Given the description of an element on the screen output the (x, y) to click on. 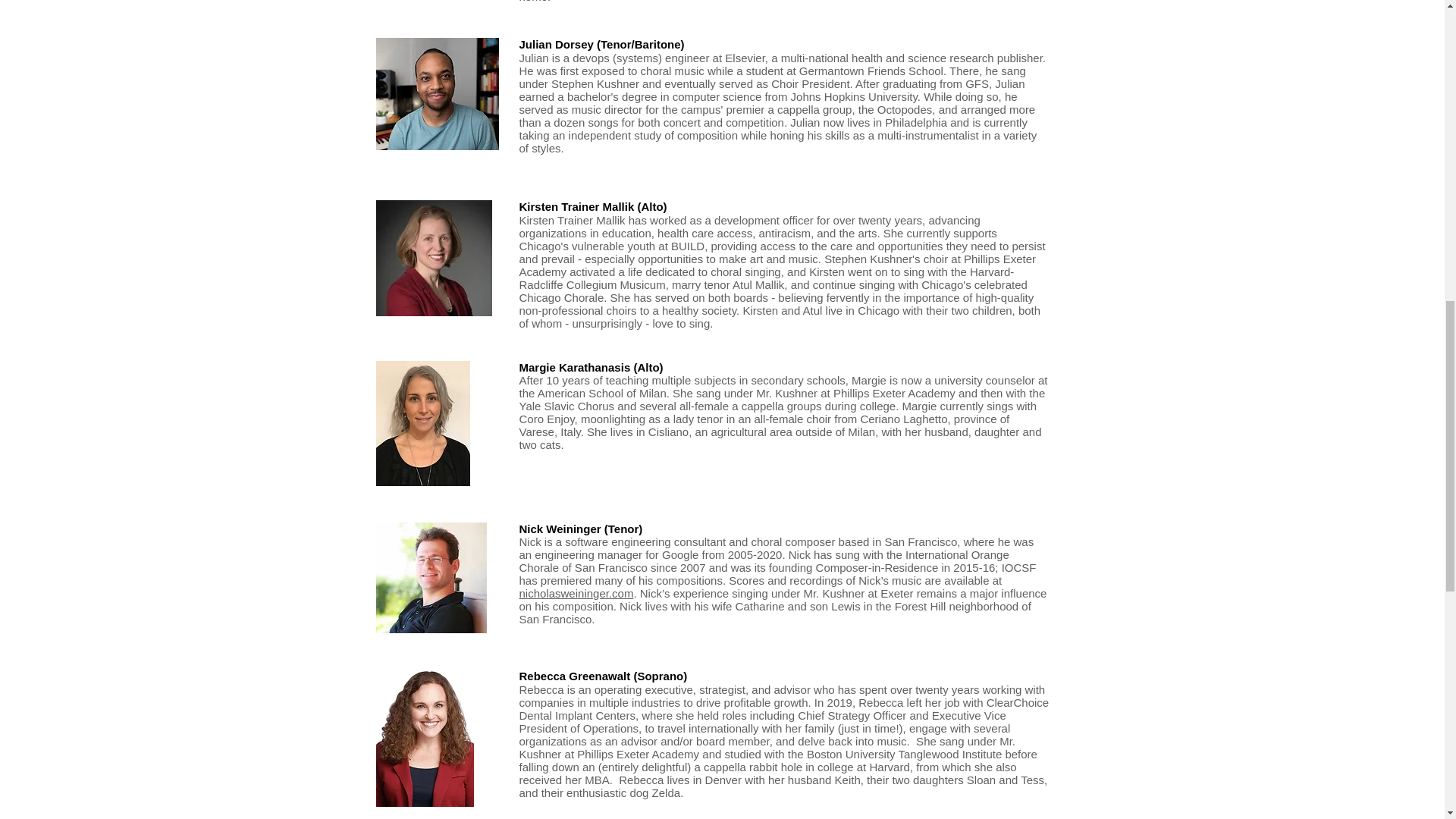
Italy Headshot.jpg (437, 93)
KTMHeadShot.jpg (433, 257)
nicholasweininger.com (575, 593)
